Given the description of an element on the screen output the (x, y) to click on. 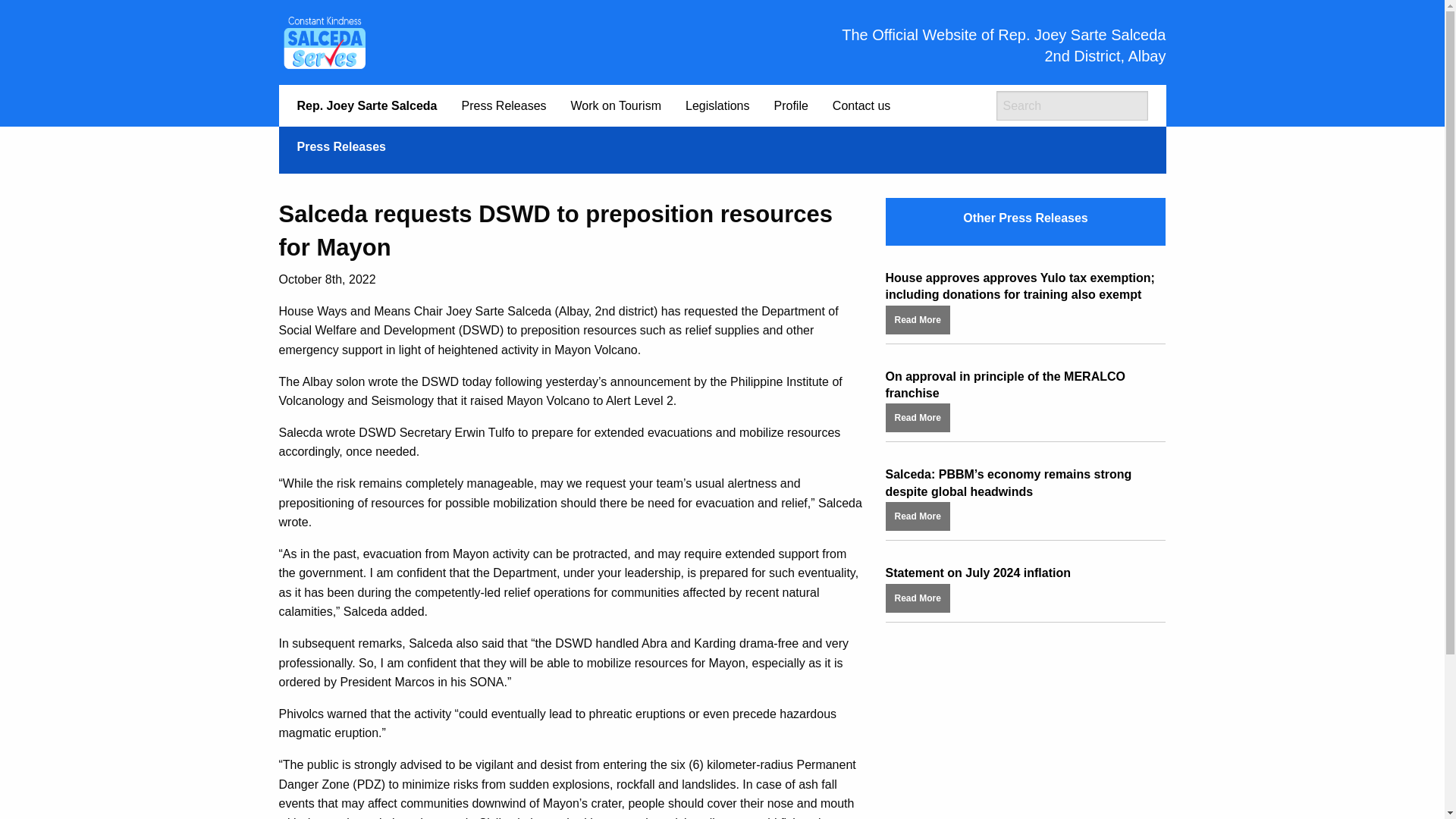
Read More (917, 318)
Contact us (861, 104)
Legislations (716, 104)
Press Releases (502, 104)
Read More (917, 514)
Read More (917, 596)
Rep. Joey Sarte Salceda (367, 105)
Profile (790, 104)
Read More (917, 416)
Work on Tourism (615, 104)
